Given the description of an element on the screen output the (x, y) to click on. 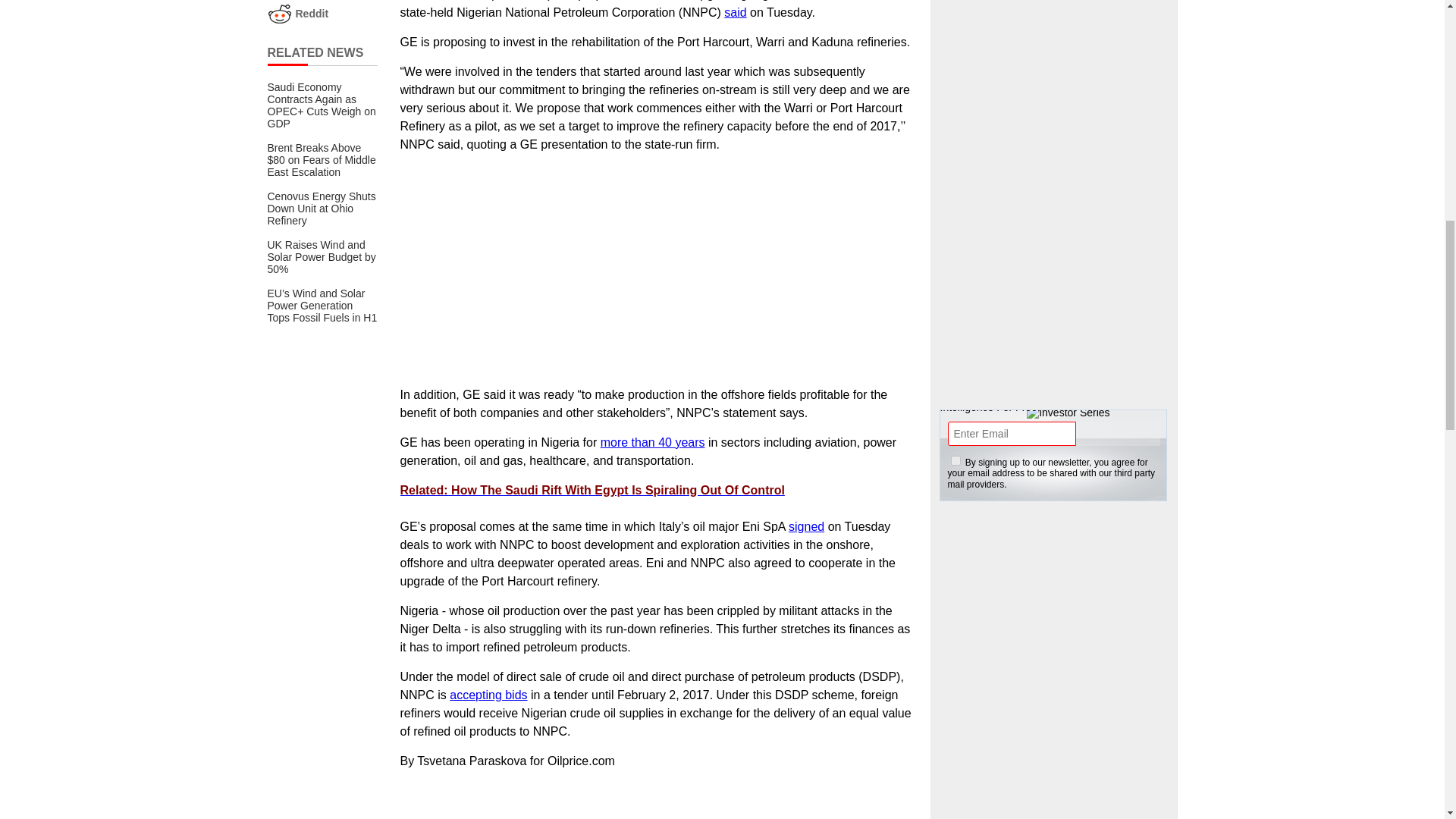
1 (955, 460)
